Given the description of an element on the screen output the (x, y) to click on. 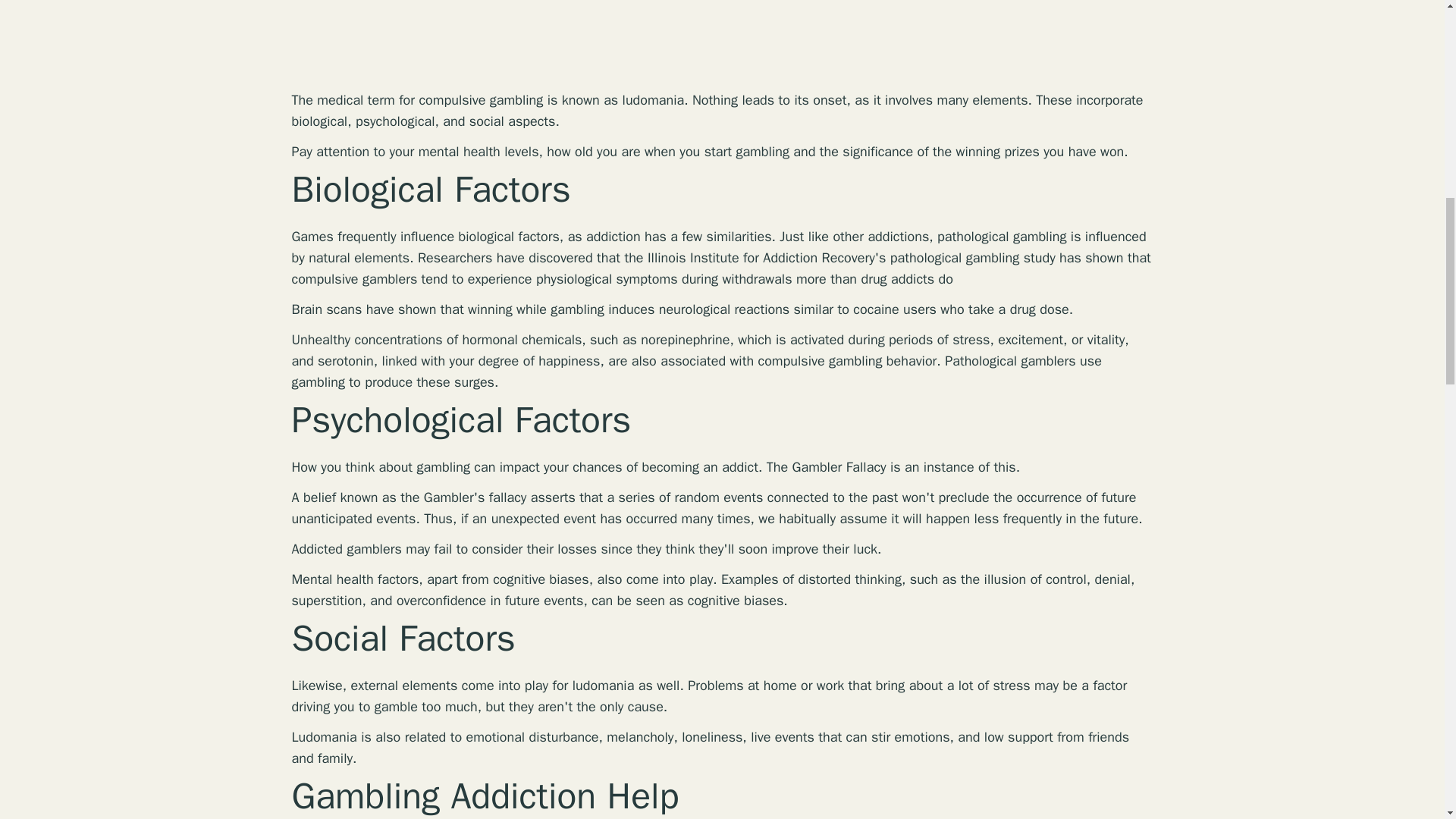
YouTube video player (503, 44)
